Given the description of an element on the screen output the (x, y) to click on. 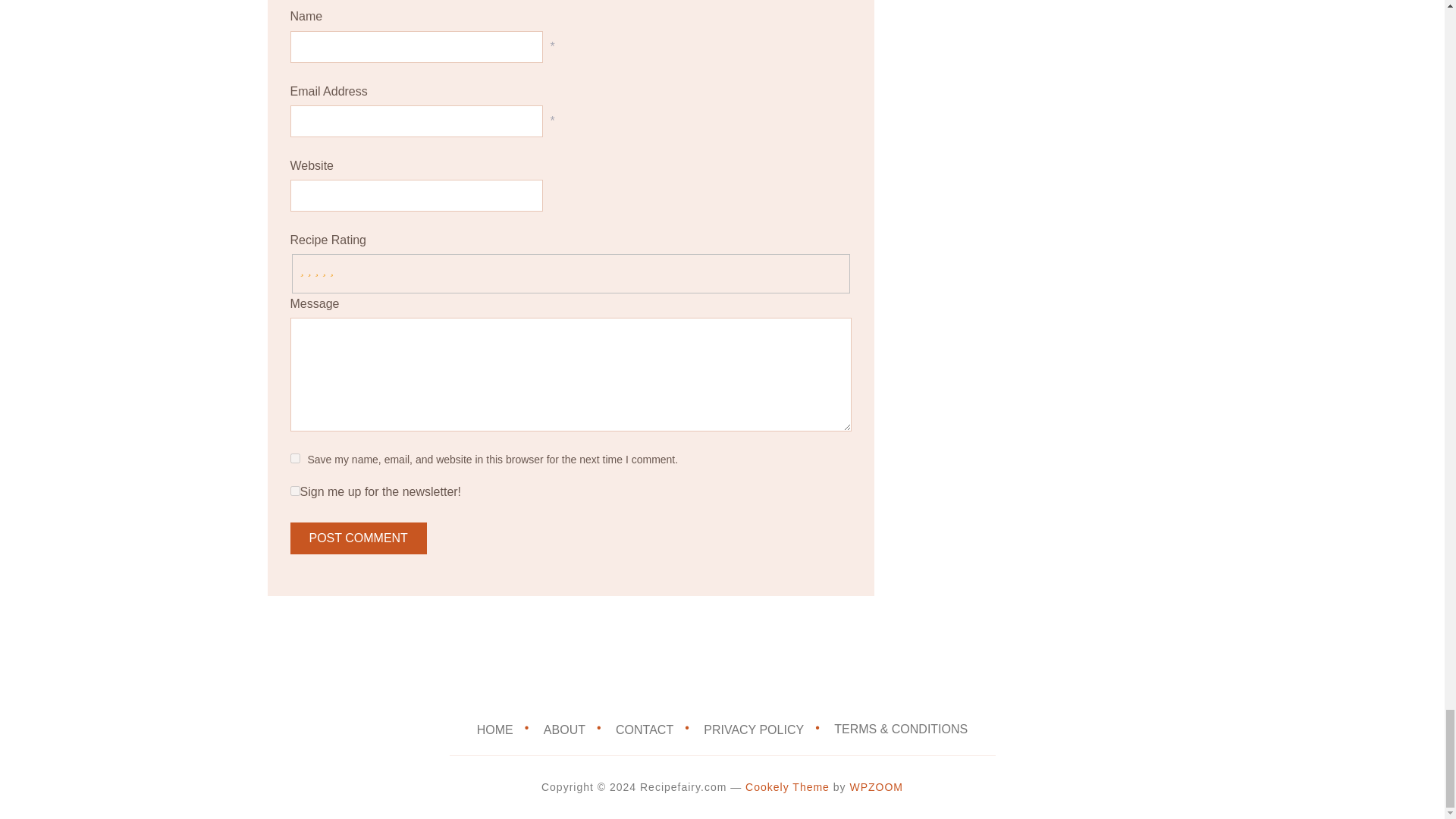
Post Comment (357, 538)
yes (294, 458)
1 (294, 491)
